Given the description of an element on the screen output the (x, y) to click on. 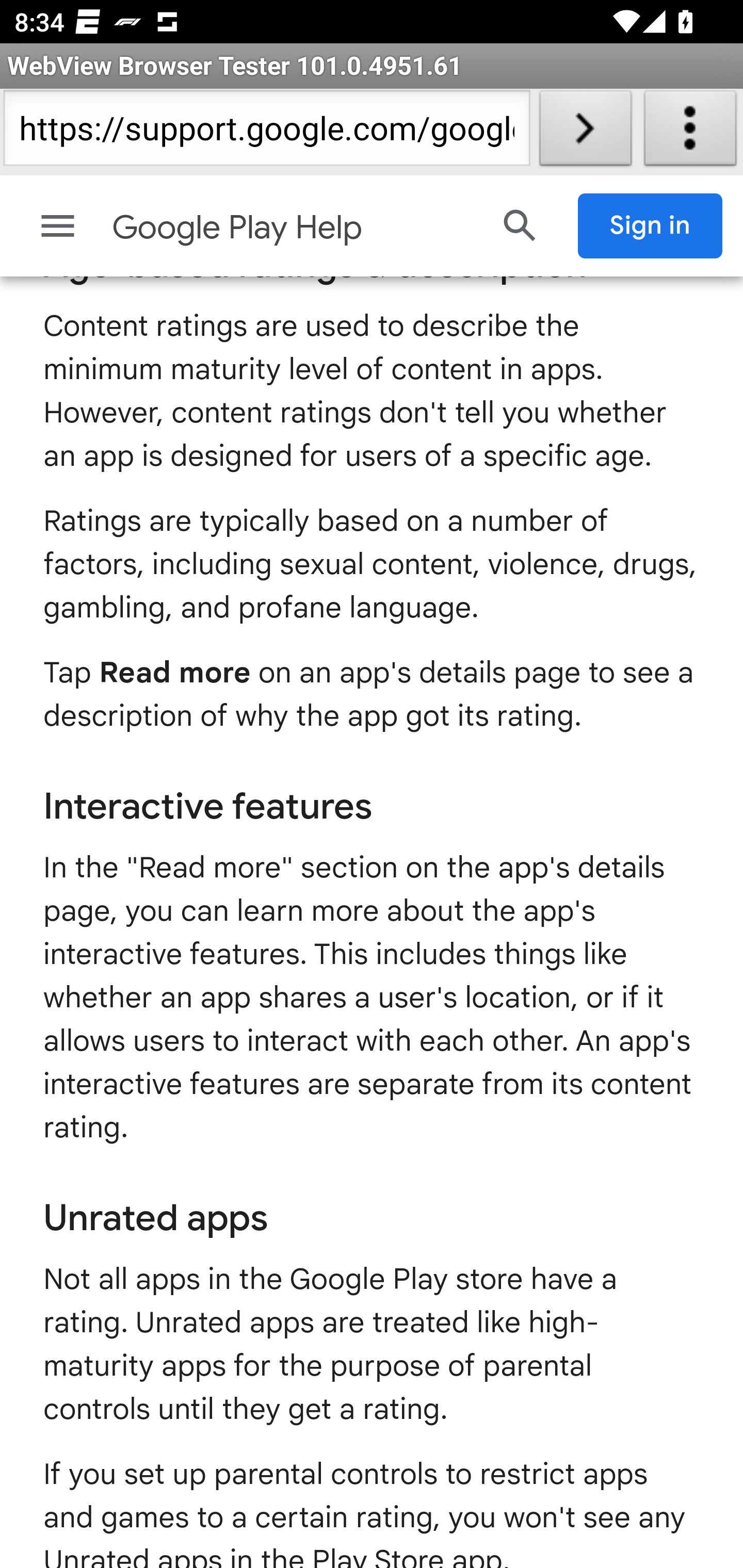
Load URL (585, 132)
About WebView (690, 132)
Main menu (58, 226)
Google Play Help (292, 227)
Search Help Center (519, 226)
Sign in (650, 226)
